Given the description of an element on the screen output the (x, y) to click on. 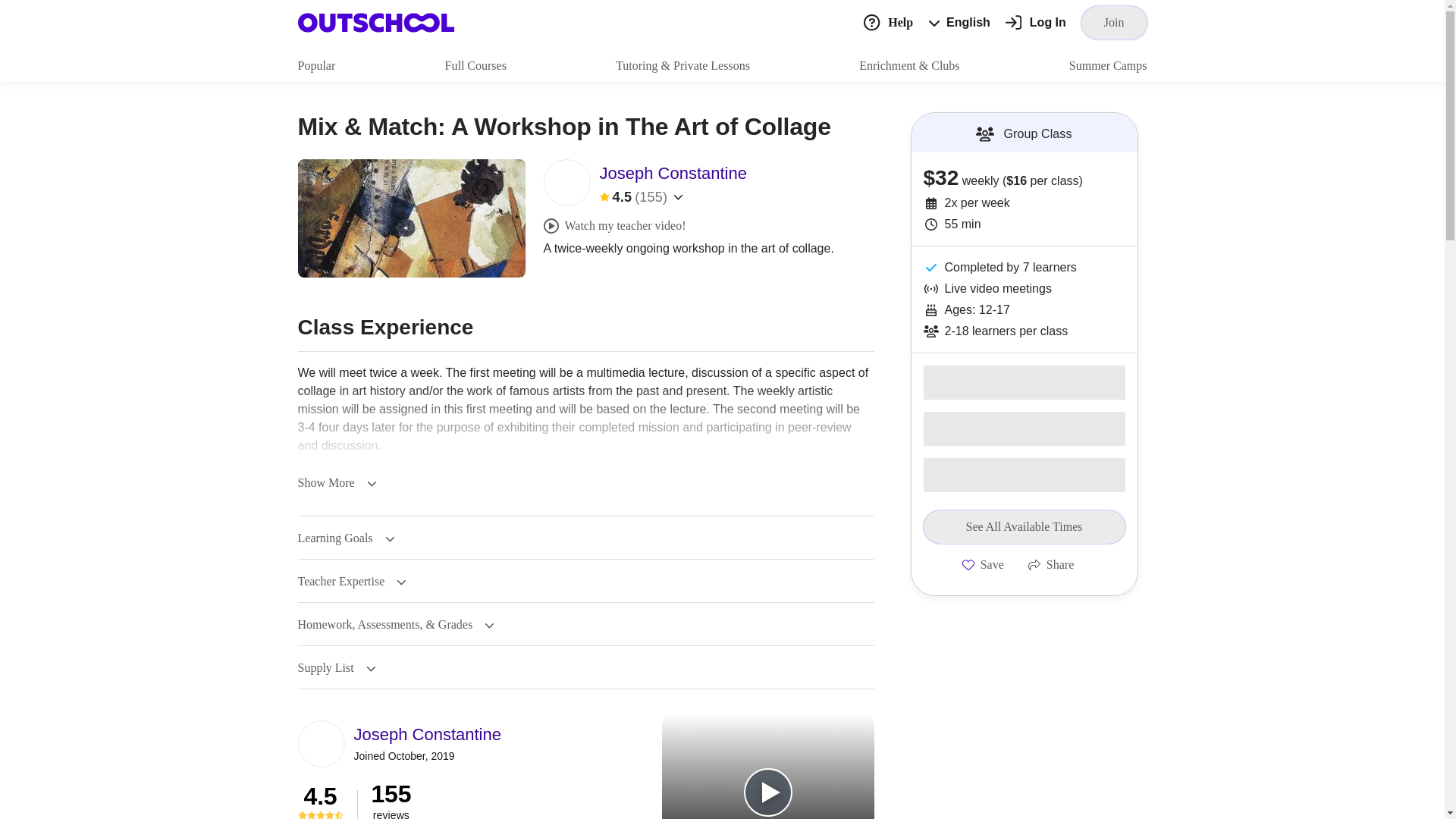
See All Available Times (1024, 526)
Supply List (336, 667)
Watch my teacher video! (614, 225)
Teacher Expertise (351, 581)
Join (1114, 22)
Help (887, 21)
Popular (315, 65)
Learning Goals (345, 538)
Joseph Constantine (426, 733)
Show More (336, 482)
Log In (1035, 22)
Summer Camps (1107, 65)
Full Courses (475, 65)
Share (1051, 565)
Save (983, 565)
